Given the description of an element on the screen output the (x, y) to click on. 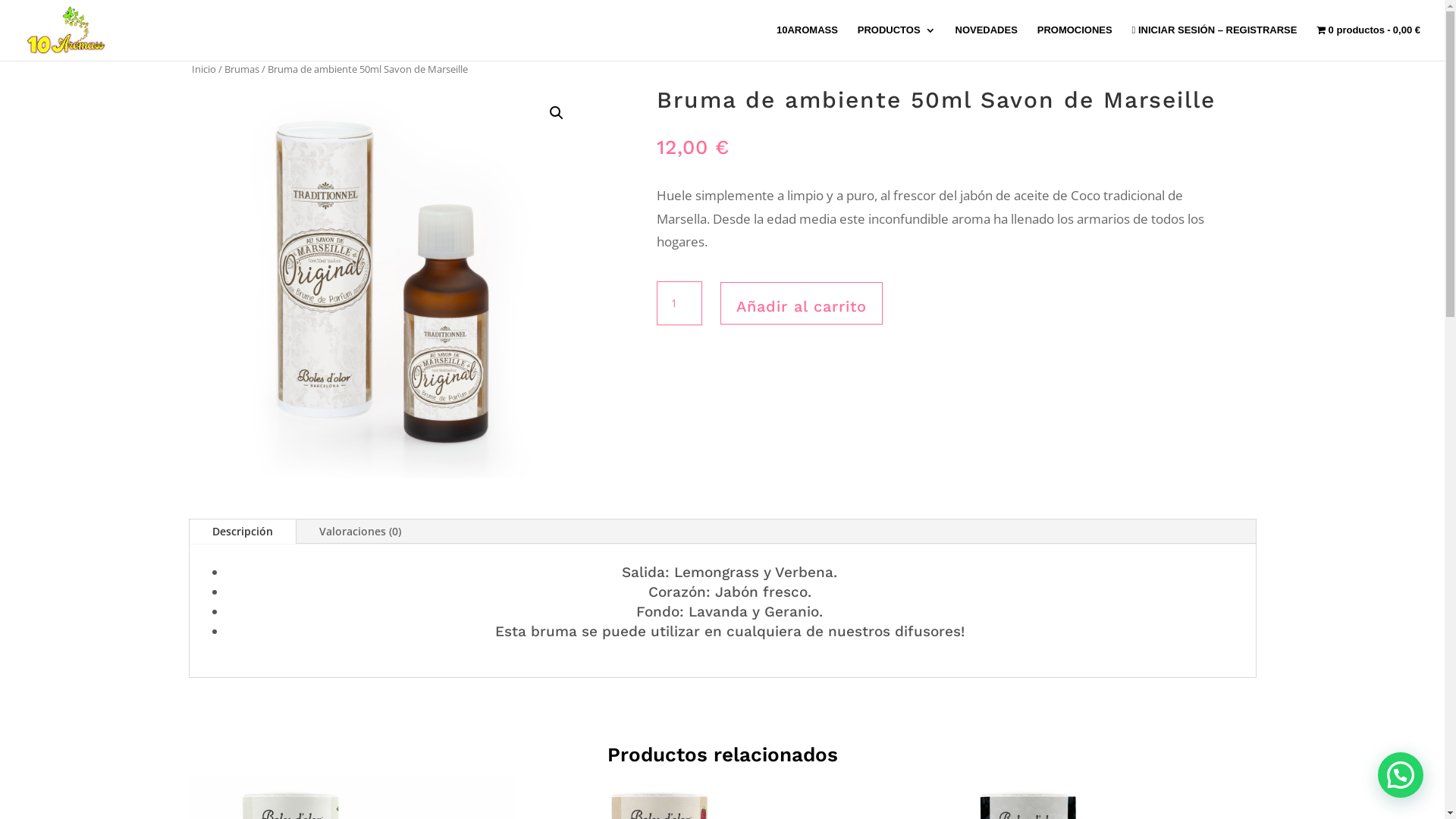
PROMOCIONES Element type: text (1074, 42)
Valoraciones (0) Element type: text (359, 531)
NOVEDADES Element type: text (986, 42)
10AROMASS Element type: text (806, 42)
PRODUCTOS Element type: text (896, 42)
Brumas Element type: text (241, 68)
BrumaAuSavondeMarseille50ml.0090265-1-scaled Element type: hover (385, 283)
Inicio Element type: text (203, 68)
